Given the description of an element on the screen output the (x, y) to click on. 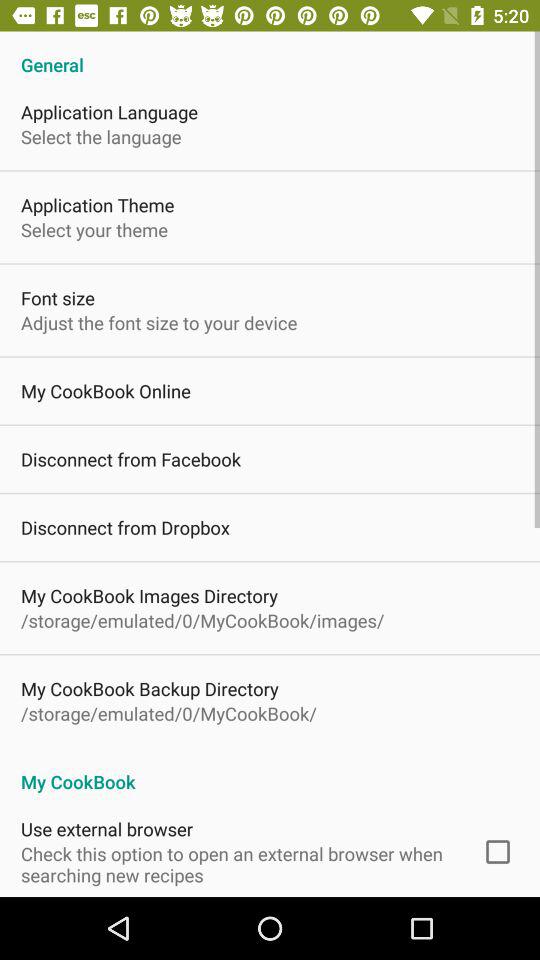
choose adjust the font icon (159, 322)
